Given the description of an element on the screen output the (x, y) to click on. 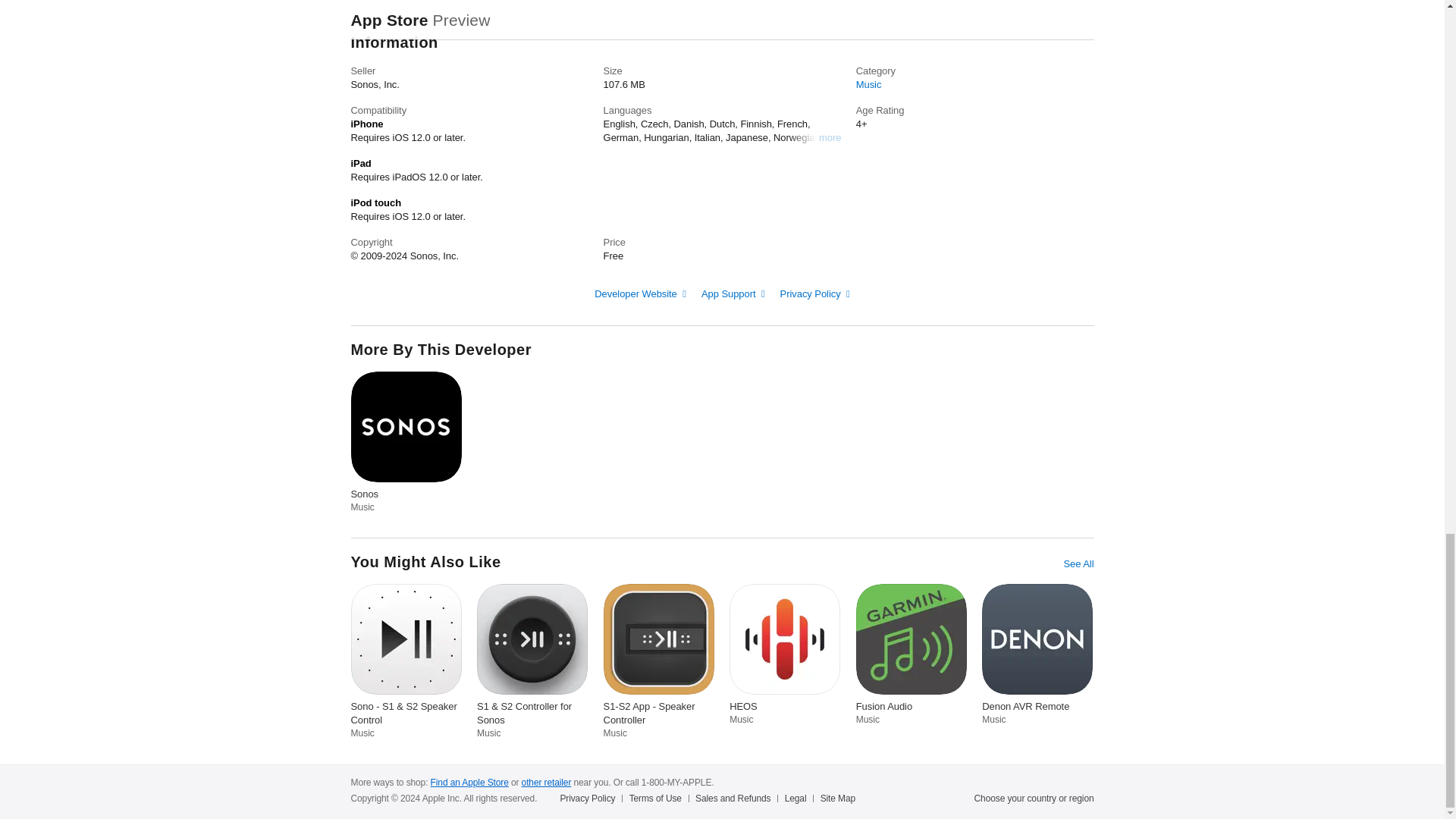
Choose your country or region (1034, 798)
